Given the description of an element on the screen output the (x, y) to click on. 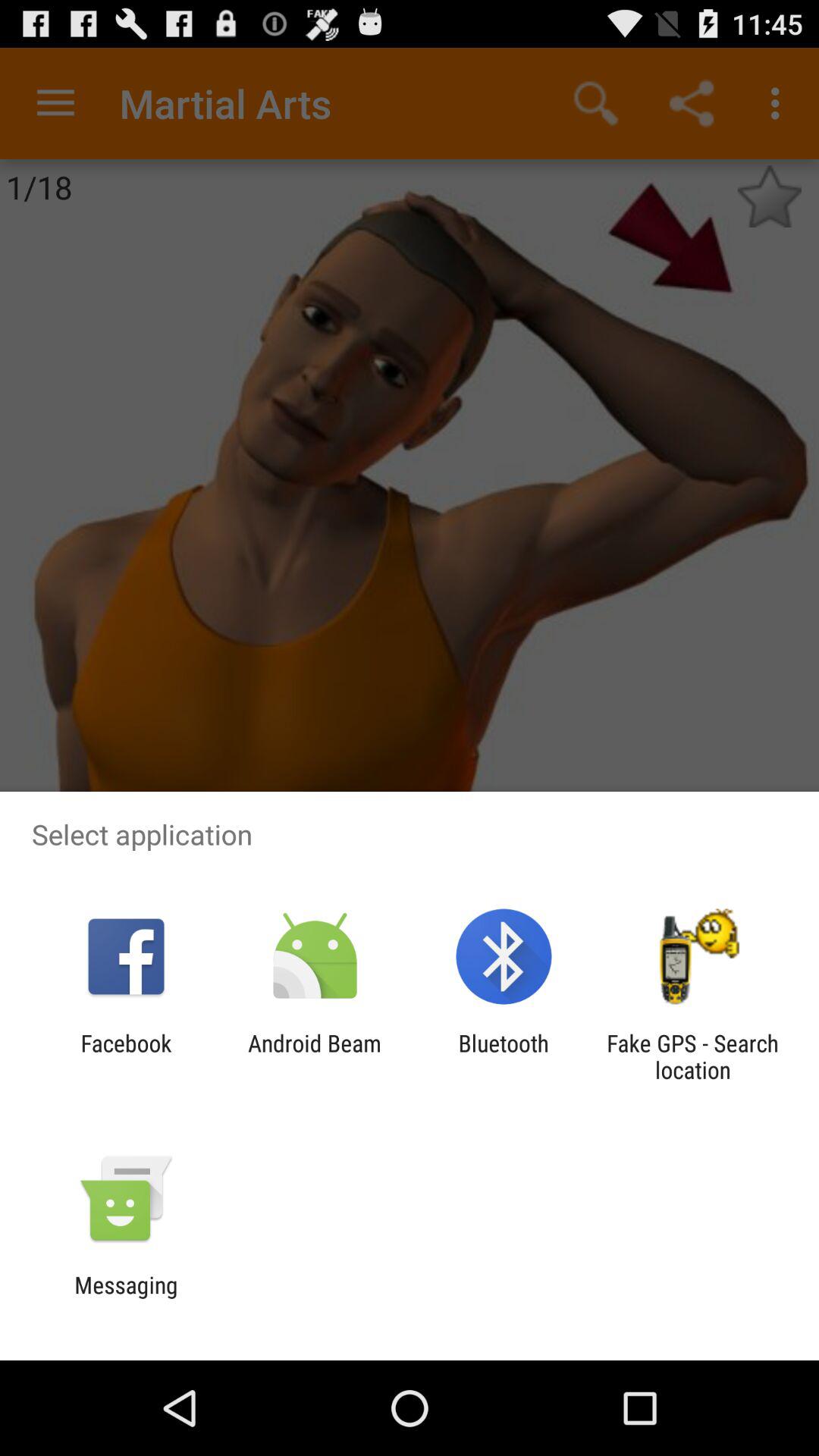
click app next to fake gps search app (503, 1056)
